Given the description of an element on the screen output the (x, y) to click on. 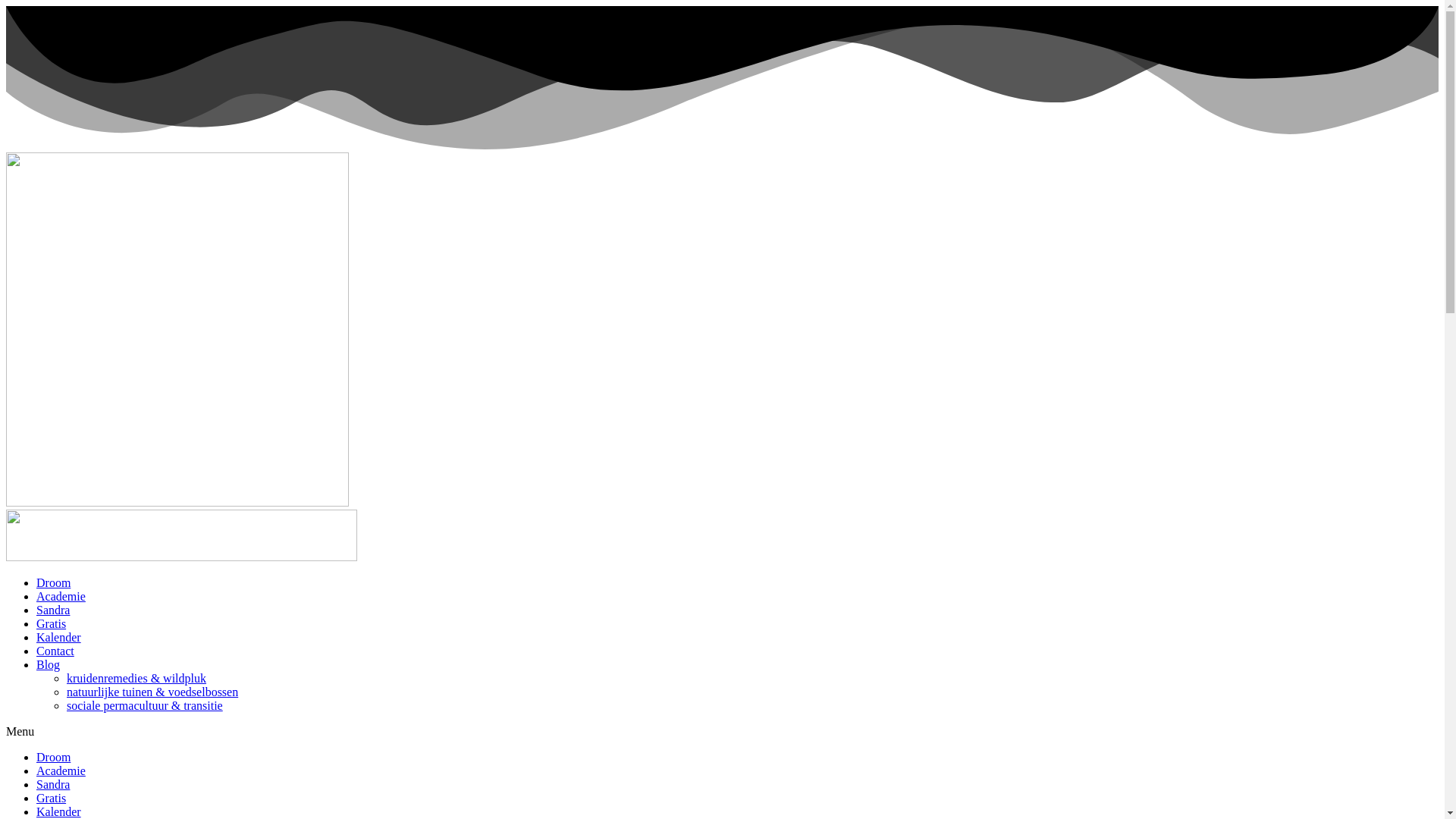
Droom Element type: text (53, 582)
Sandra Element type: text (52, 784)
Academie Element type: text (60, 770)
Sandra Element type: text (52, 609)
Blog Element type: text (47, 664)
Droom Element type: text (53, 756)
sociale permacultuur & transitie Element type: text (144, 705)
Academie Element type: text (60, 595)
Gratis Element type: text (50, 623)
Gratis Element type: text (50, 797)
natuurlijke tuinen & voedselbossen Element type: text (152, 691)
Kalender Element type: text (58, 636)
kruidenremedies & wildpluk Element type: text (136, 677)
Kalender Element type: text (58, 811)
Contact Element type: text (55, 650)
